Given the description of an element on the screen output the (x, y) to click on. 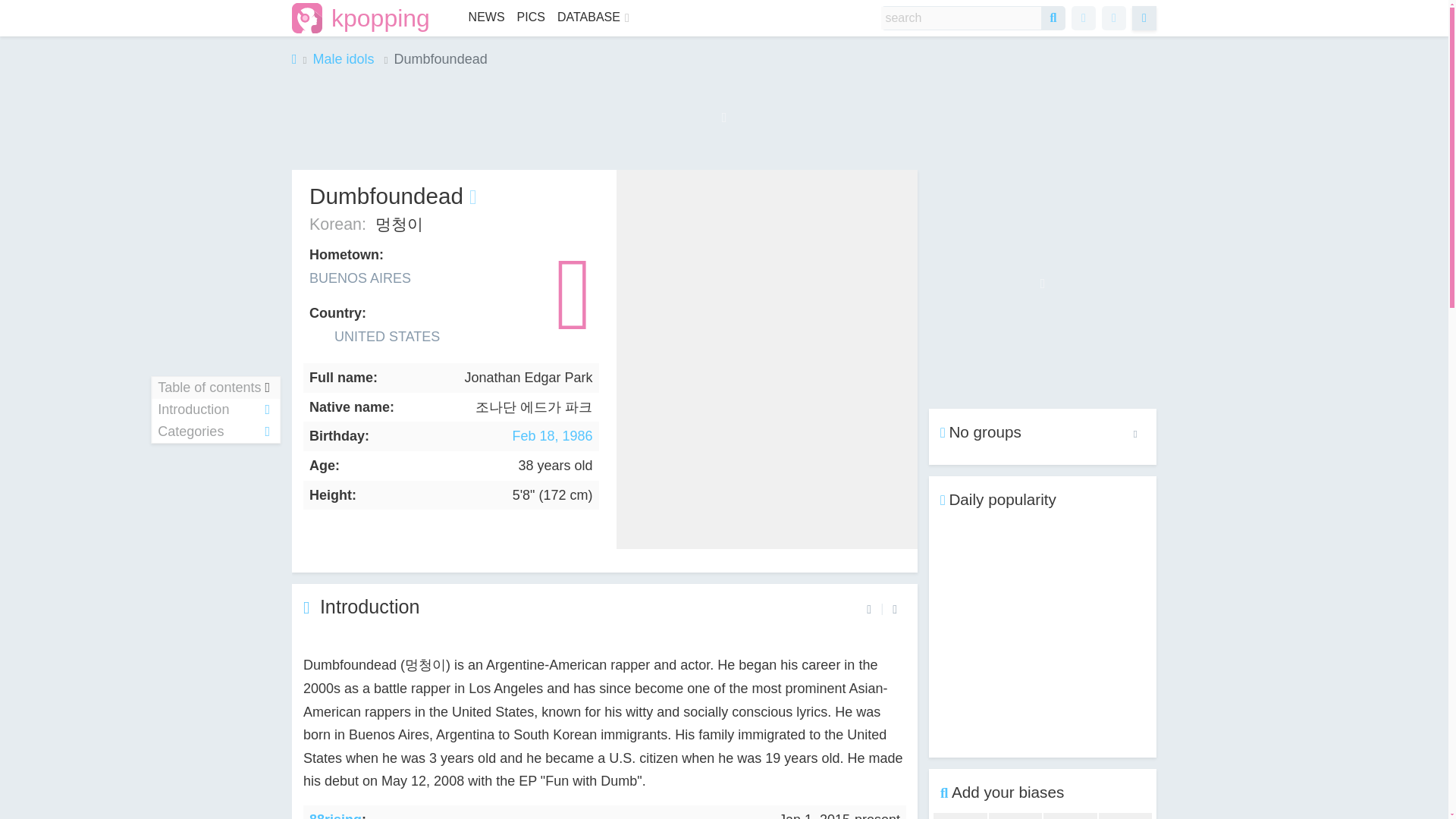
Feb 18, 1986 (552, 435)
United States (525, 294)
DATABASE (585, 18)
Introduction (215, 409)
NEWS (487, 17)
Introduction (266, 409)
Categories (266, 431)
Introduction (370, 606)
Male idols (343, 58)
Categories (215, 431)
